Given the description of an element on the screen output the (x, y) to click on. 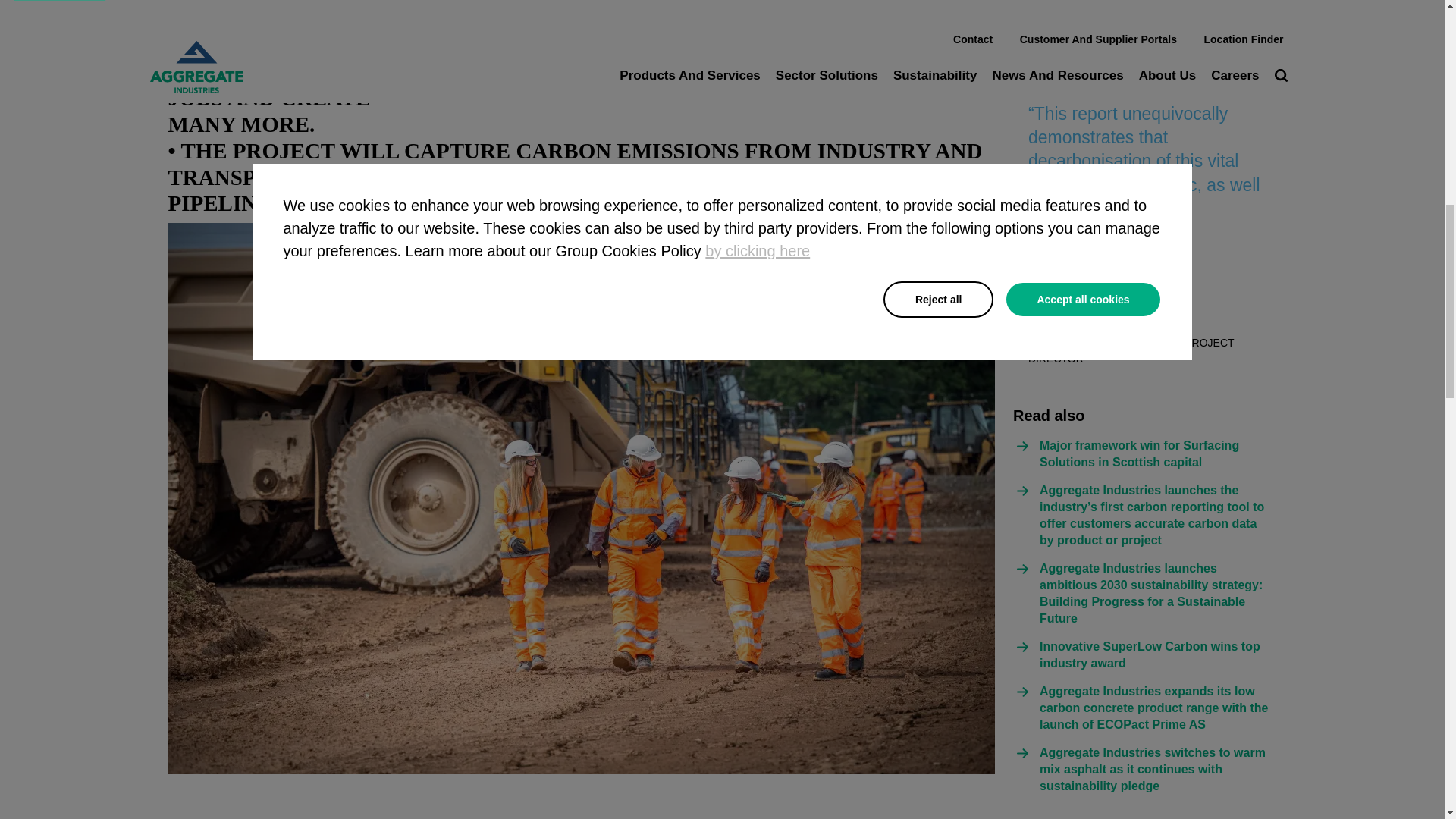
Innovative SuperLow Carbon wins top industry award (1155, 654)
SEND US AN EMAIL (1101, 35)
